Given the description of an element on the screen output the (x, y) to click on. 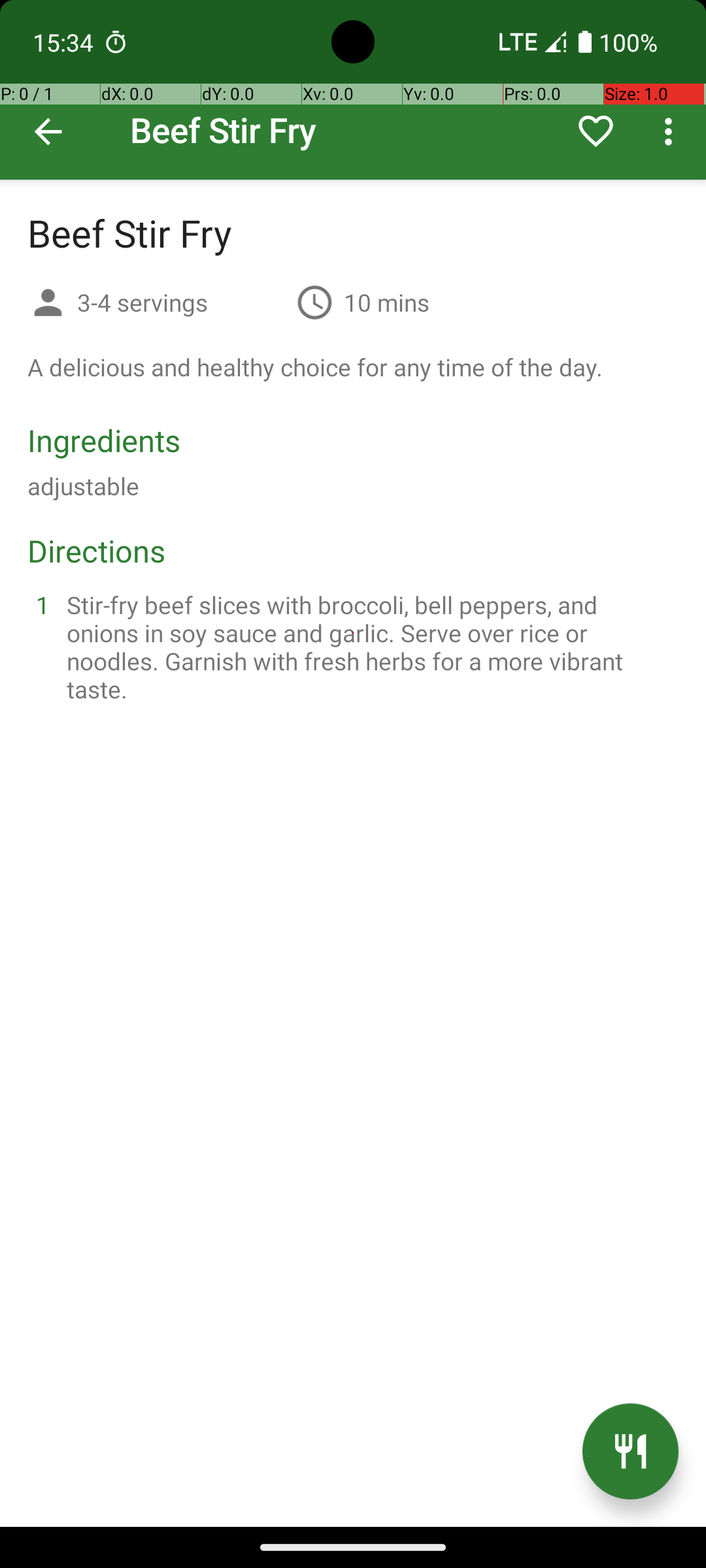
adjustable Element type: android.widget.TextView (83, 485)
Stir-fry beef slices with broccoli, bell peppers, and onions in soy sauce and garlic. Serve over rice or noodles. Garnish with fresh herbs for a more vibrant taste. Element type: android.widget.TextView (368, 646)
